Given the description of an element on the screen output the (x, y) to click on. 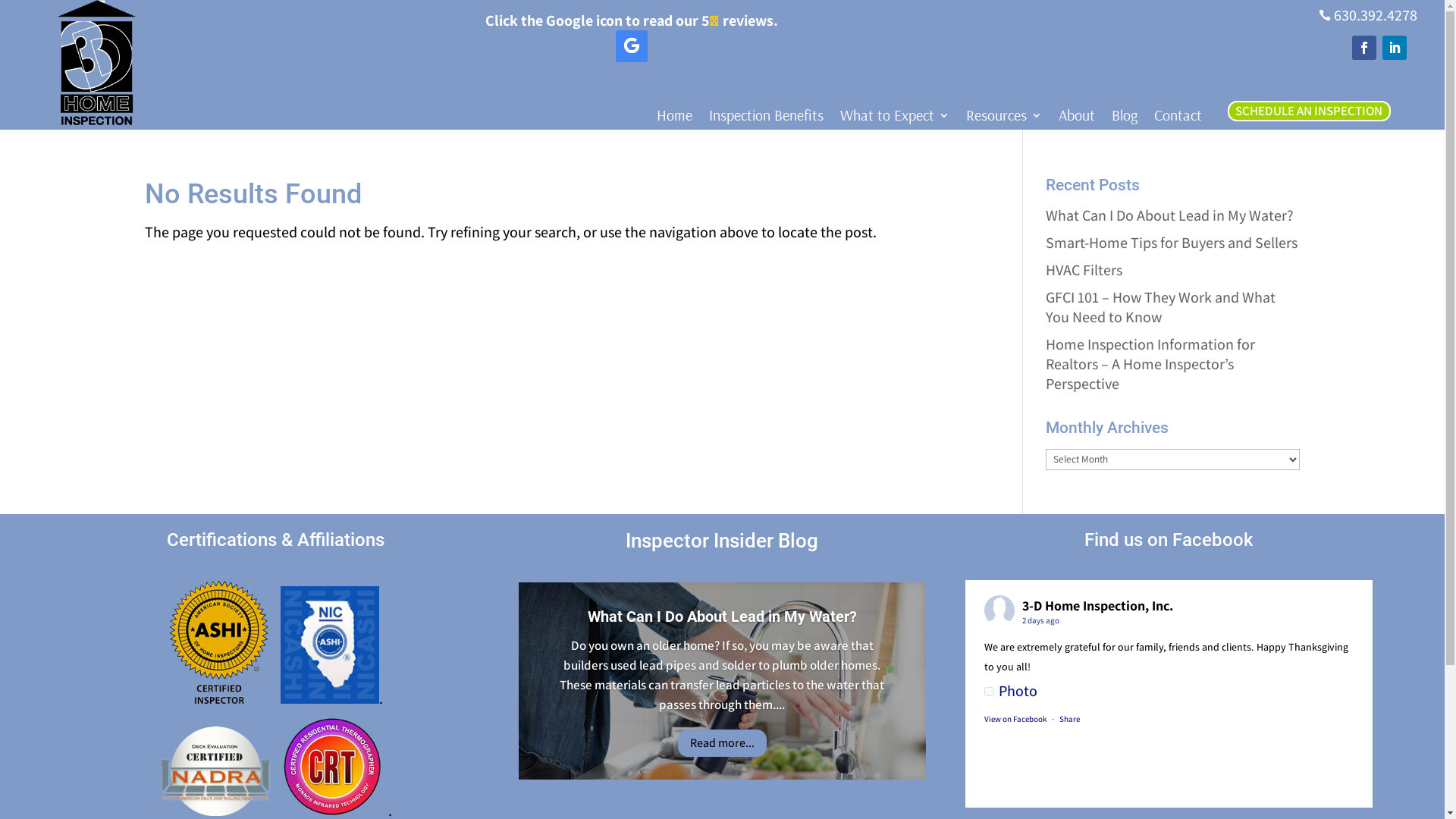
HVAC Filters Element type: text (1083, 269)
3-D Home Inspection, Inc. Element type: text (1097, 605)
What Can I Do About Lead in My Water? Element type: text (1169, 215)
test full res Element type: hover (95, 62)
View on Facebook Element type: text (1015, 718)
Follow on Google Element type: hover (631, 46)
Smart-Home Tips for Buyers and Sellers Element type: text (1171, 242)
Contact Element type: text (1177, 117)
630.392.4278 Element type: text (1375, 15)
Photo Element type: text (1010, 690)
Blog Element type: text (1124, 117)
Home Element type: text (674, 117)
Share Element type: text (1068, 718)
What Can I Do About Lead in My Water? Element type: text (721, 616)
Follow on LinkedIn Element type: hover (1394, 47)
Resources Element type: text (1003, 117)
What to Expect Element type: text (894, 117)
Read more... Element type: text (721, 743)
About Element type: text (1076, 117)
Inspection Benefits Element type: text (766, 117)
Follow on Facebook Element type: hover (1364, 47)
